Given the description of an element on the screen output the (x, y) to click on. 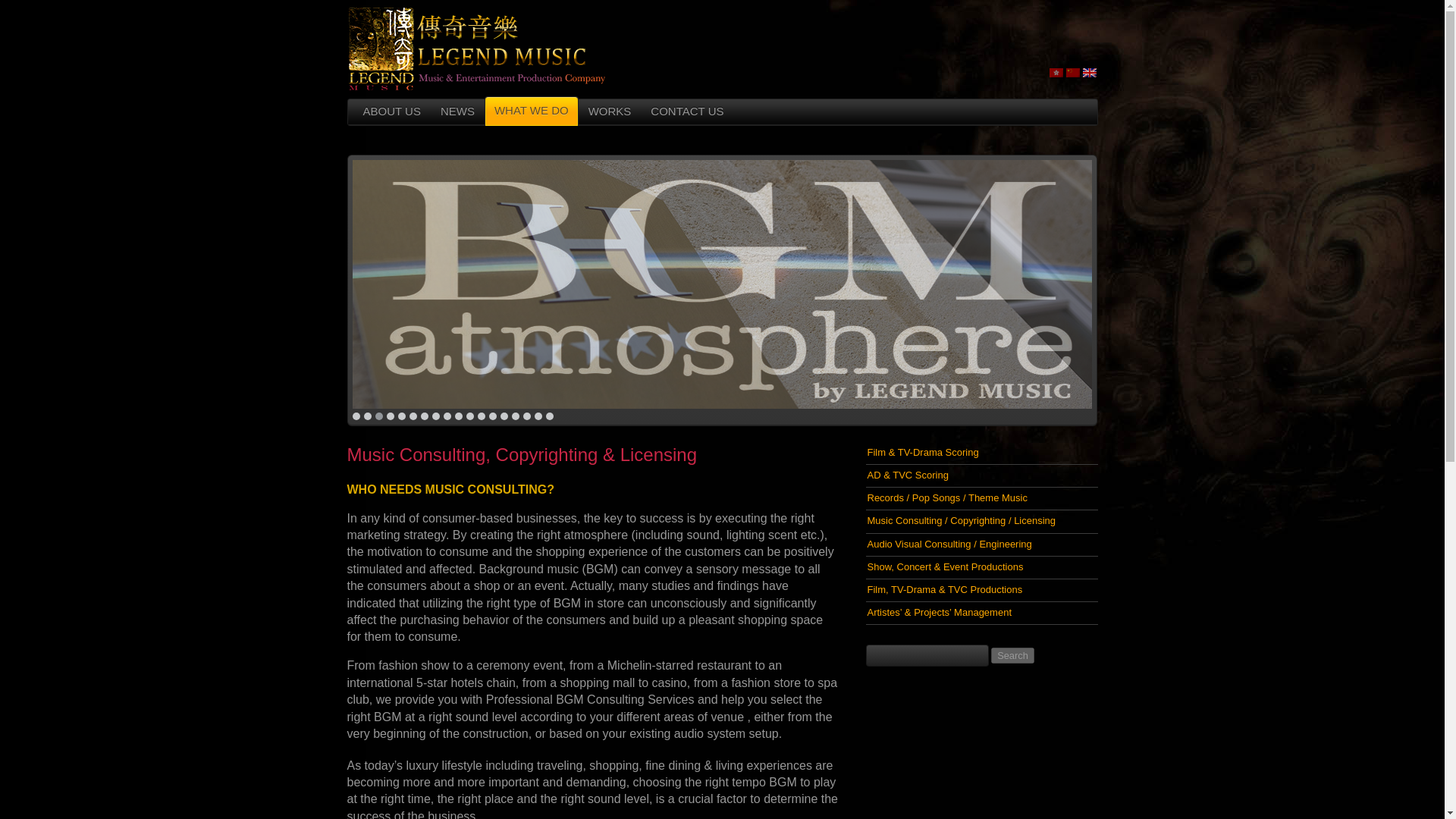
5 (400, 416)
16 (526, 416)
9 (445, 416)
15 (514, 416)
NEWS (457, 111)
ABOUT US (391, 111)
10 (458, 416)
2 (367, 416)
14 (504, 416)
12 (480, 416)
WHAT WE DO (531, 111)
13 (491, 416)
4 (390, 416)
7 (424, 416)
6 (412, 416)
